Given the description of an element on the screen output the (x, y) to click on. 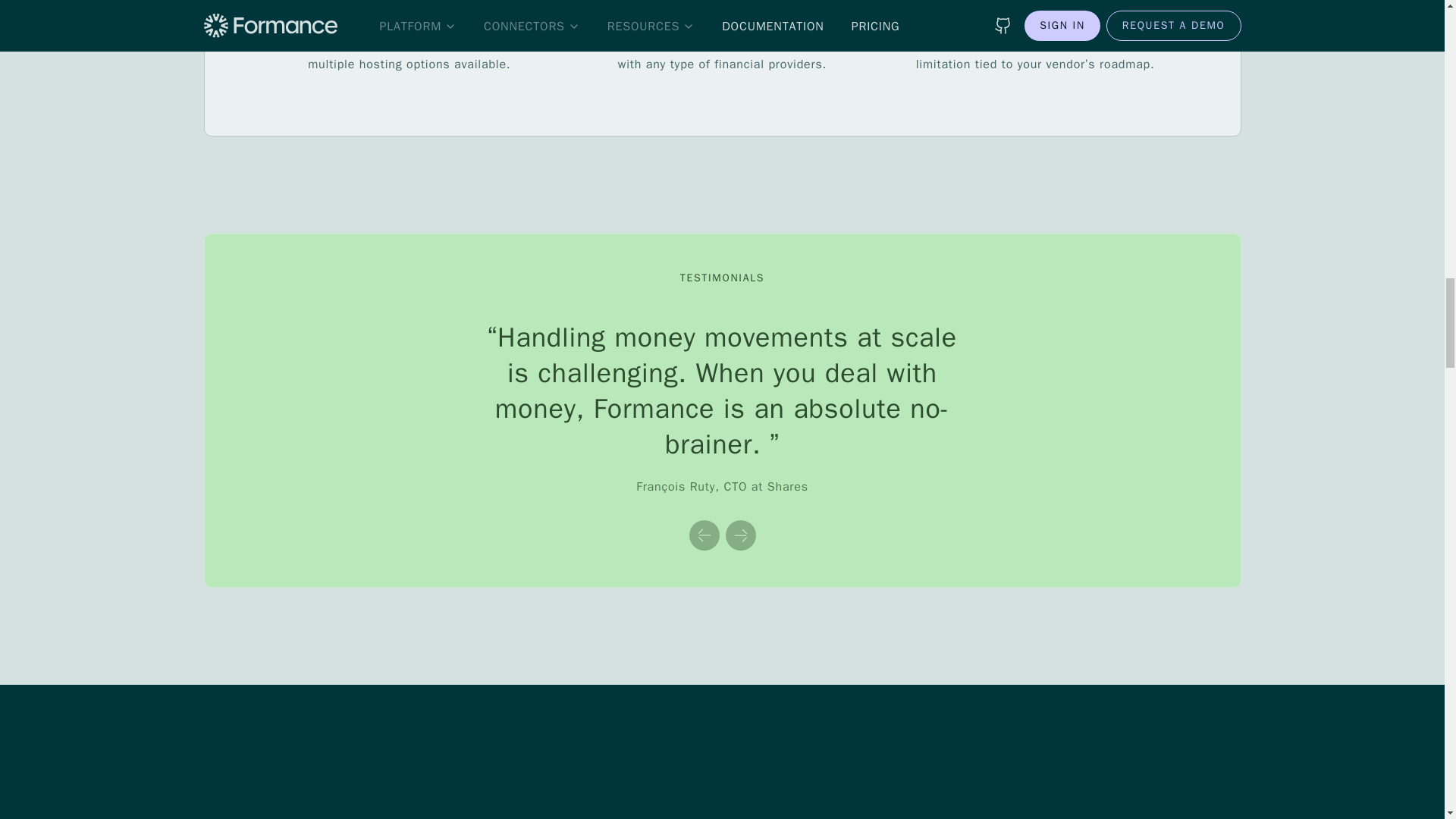
PREVIOUS SLIDE (703, 535)
NEXT SLIDE (740, 535)
